Given the description of an element on the screen output the (x, y) to click on. 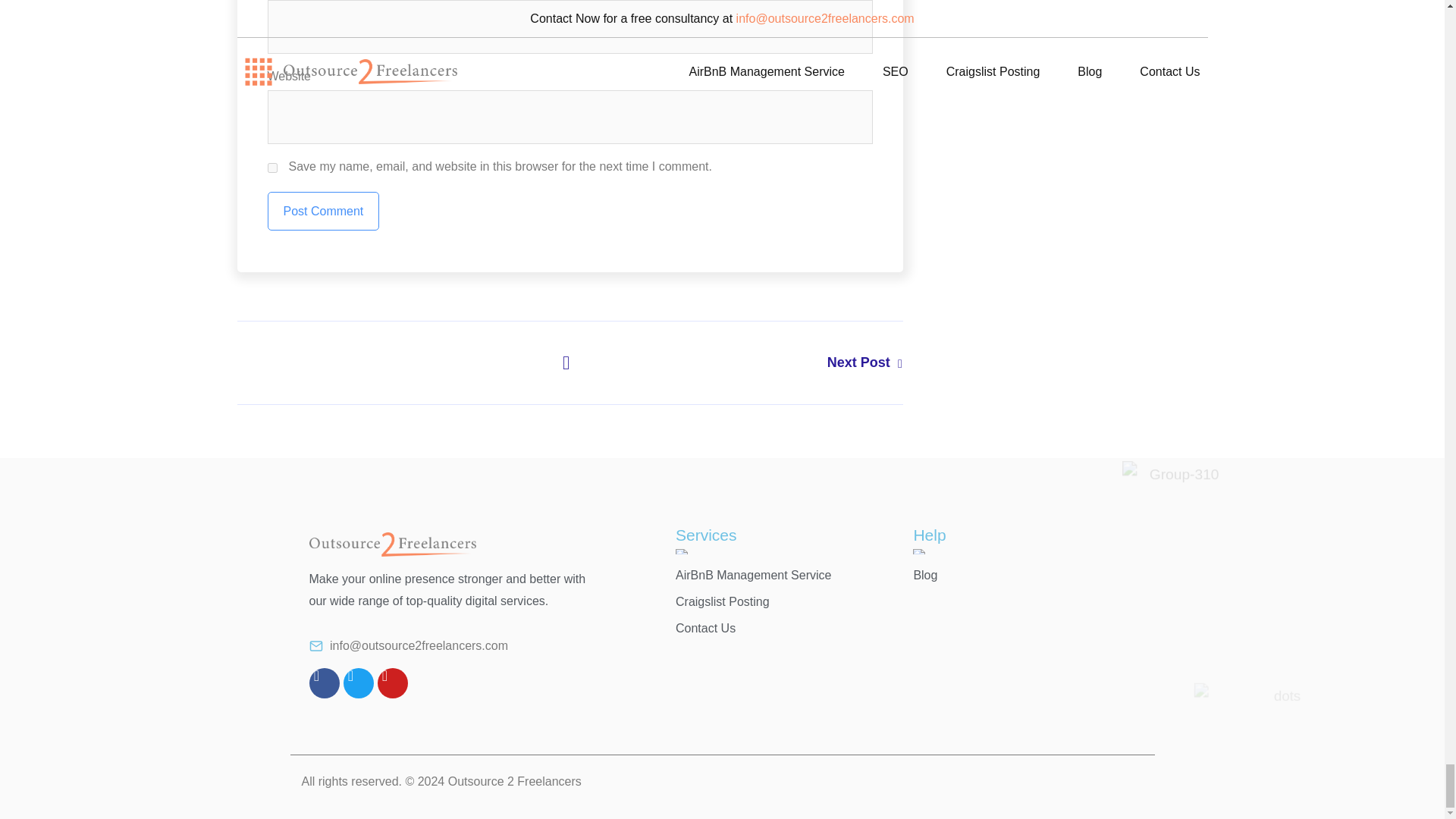
Next Post (735, 362)
Post Comment (322, 210)
Post Comment (322, 210)
yes (271, 167)
